Given the description of an element on the screen output the (x, y) to click on. 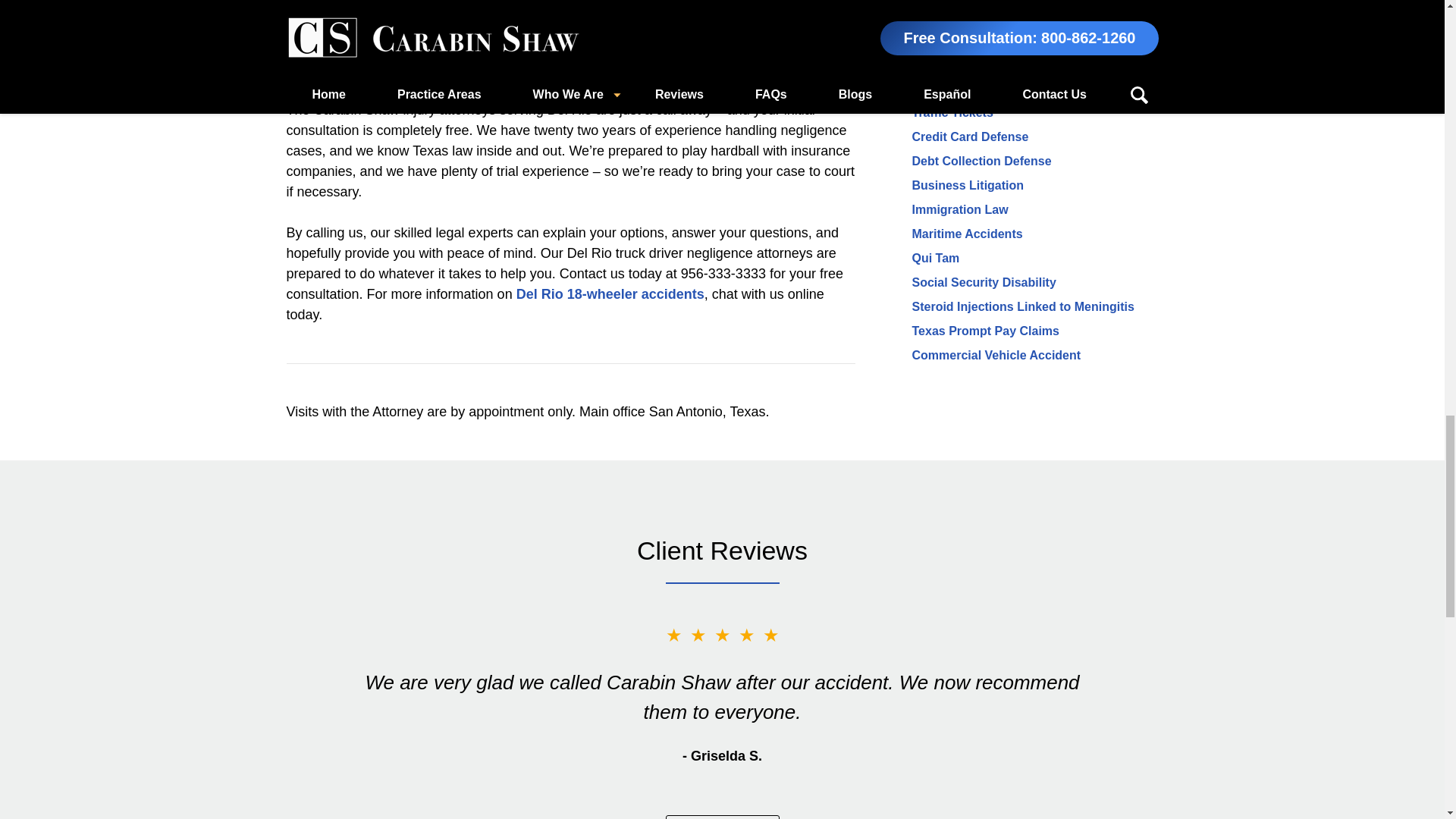
Del Rio 18-wheeler accidents (610, 294)
